Given the description of an element on the screen output the (x, y) to click on. 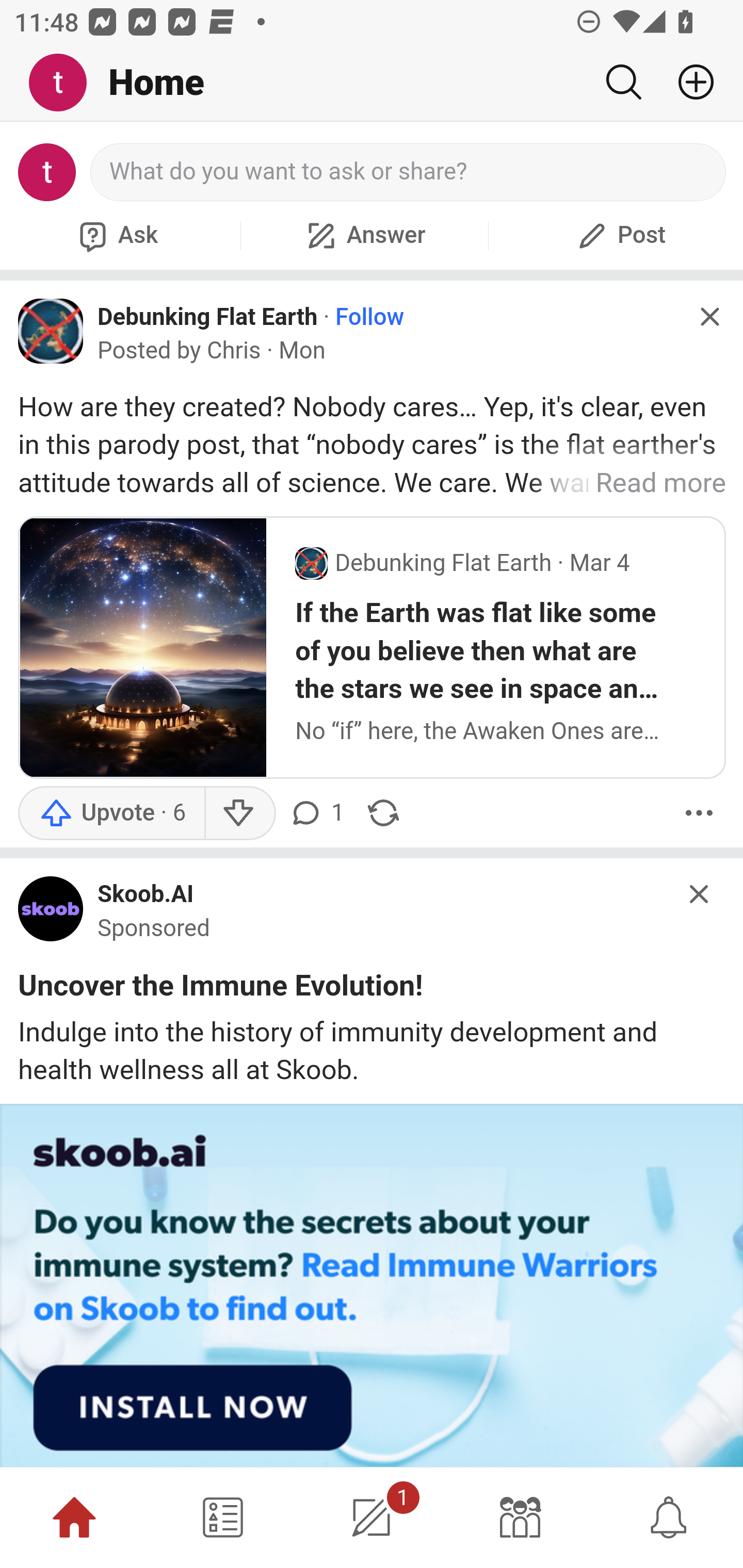
Me (64, 83)
Search (623, 82)
Add (688, 82)
What do you want to ask or share? (408, 172)
Ask (116, 234)
Answer (364, 234)
Post (618, 234)
Hide (709, 316)
Icon for Debunking Flat Earth (50, 330)
Debunking Flat Earth (208, 315)
Follow (369, 316)
Upvote (111, 813)
Downvote (238, 813)
1 comment (319, 813)
Share (383, 813)
More (699, 813)
Hide (699, 893)
main-qimg-1ebea3e07fd93bdc180c2ff967774d01 (50, 912)
Skoob.AI (145, 895)
Sponsored (154, 929)
Uncover the Immune Evolution! (220, 989)
1 (371, 1517)
